Given the description of an element on the screen output the (x, y) to click on. 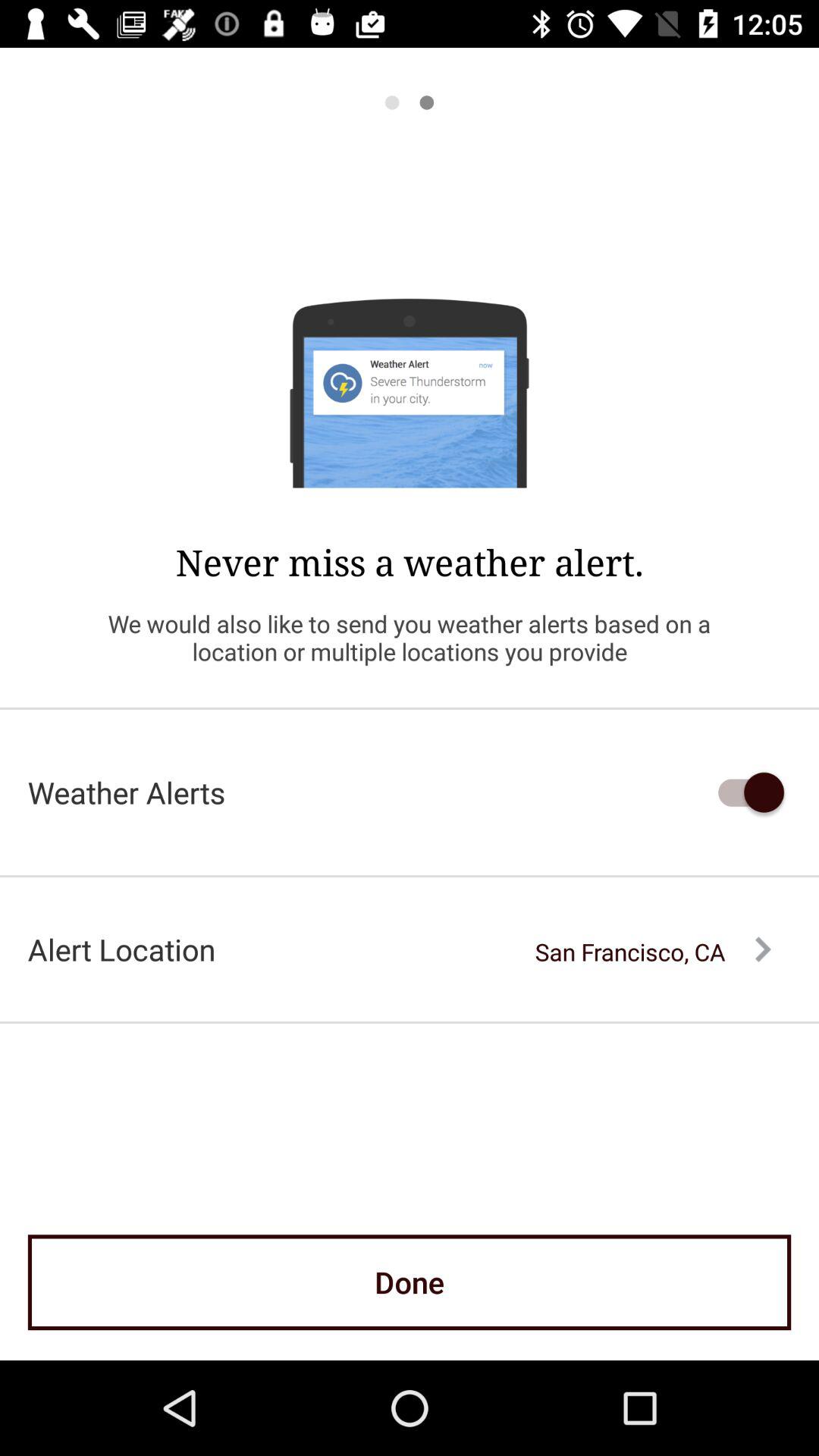
swipe until the san francisco, ca (653, 951)
